Given the description of an element on the screen output the (x, y) to click on. 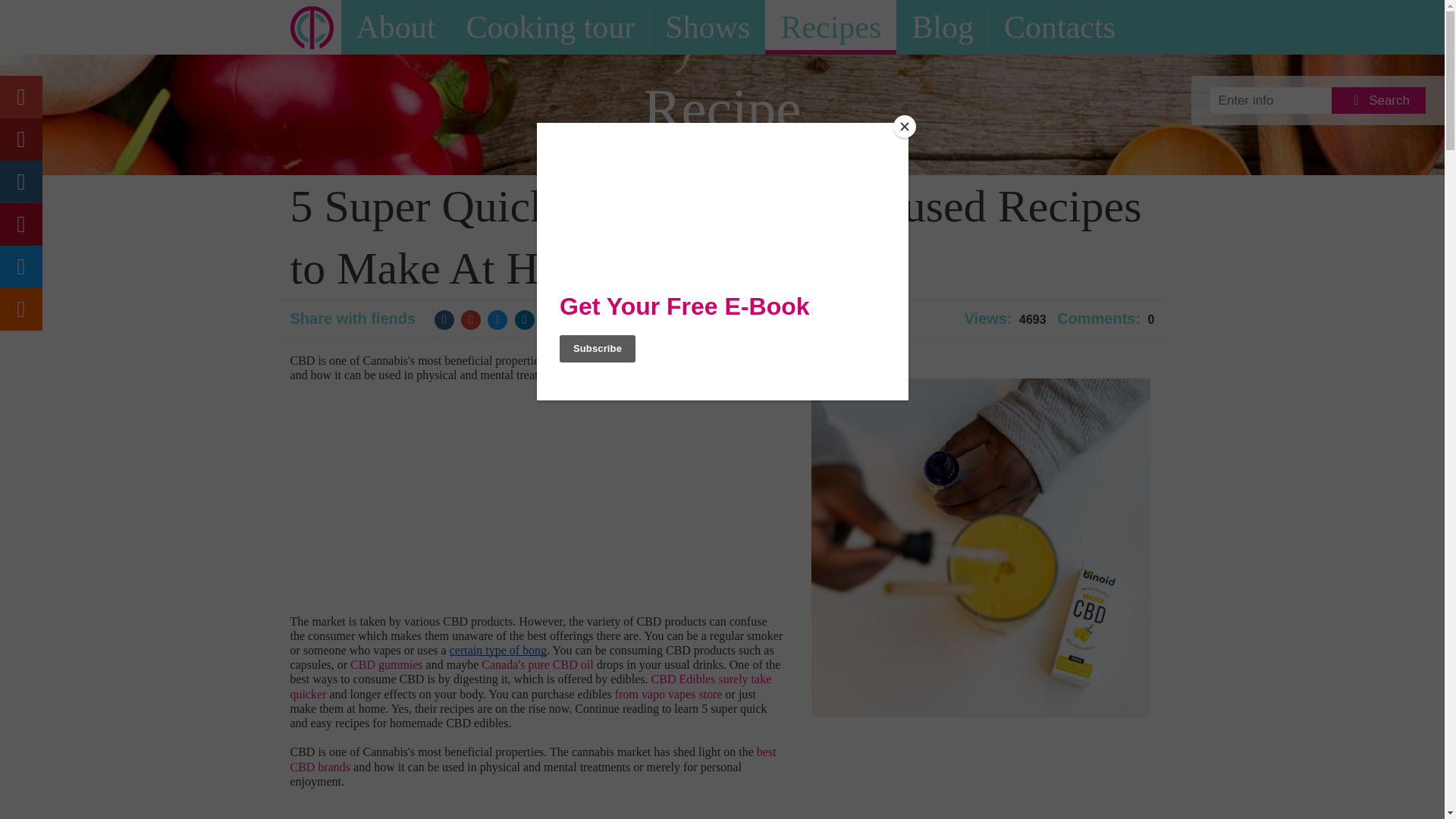
Blog (942, 27)
Canada's pure CBD oil (536, 664)
Shows (707, 27)
Recipes (830, 27)
About (395, 27)
Search (1378, 99)
Cooking tour (549, 27)
CBD gummies (386, 664)
best CBD brands (533, 759)
Contacts (1059, 27)
CBD oils (761, 359)
CBD Edibles surely take quicker (531, 686)
from vapo vapes store (668, 694)
Advertisement (416, 503)
certain type of bong (498, 649)
